Given the description of an element on the screen output the (x, y) to click on. 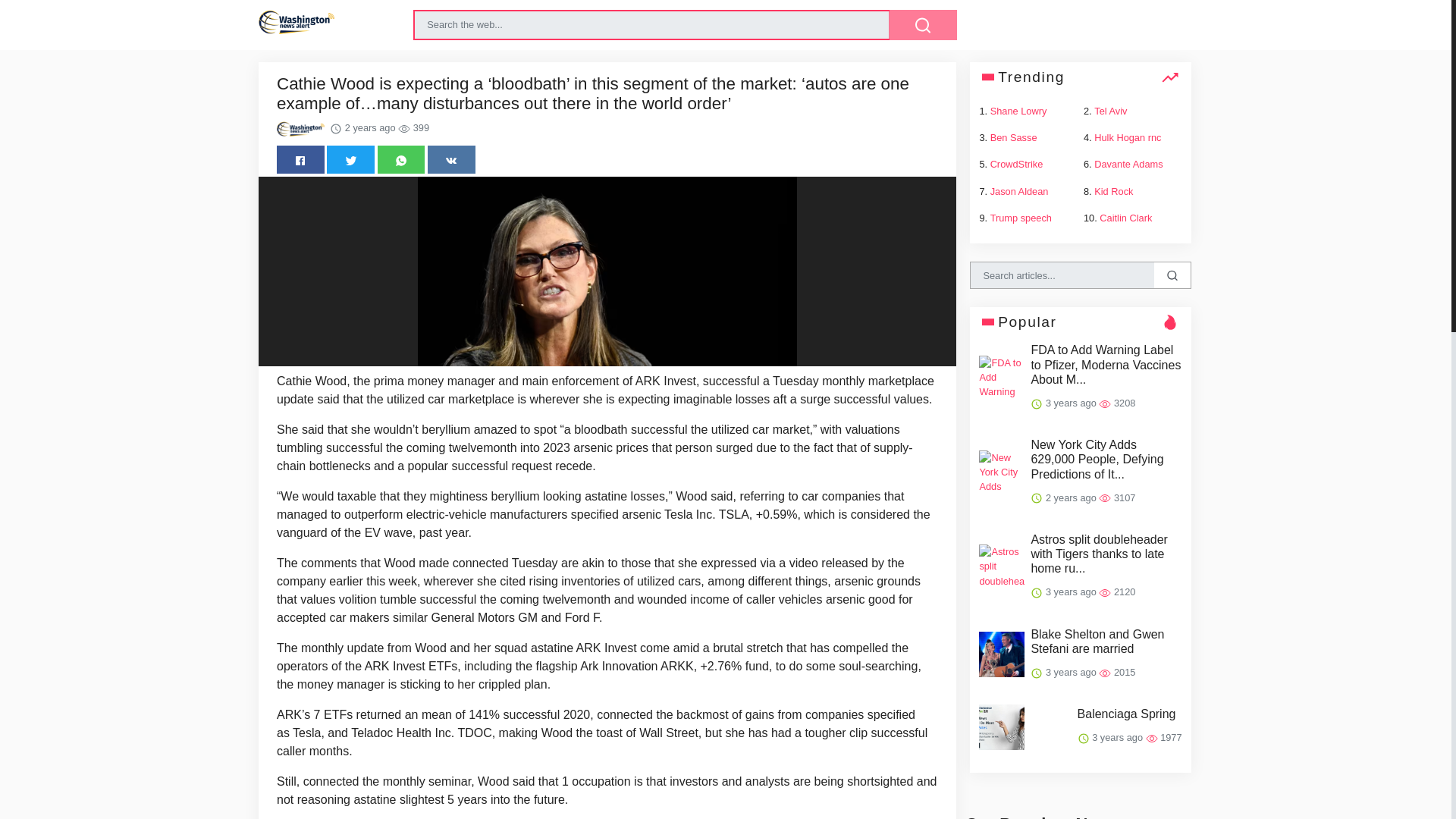
Tel Aviv (1110, 111)
earlier this week (371, 581)
Caitlin Clark (1125, 216)
 some soul-searching (859, 666)
Kid Rock (1113, 190)
Ben Sasse (1013, 137)
Share on Facebook (300, 159)
Davante Adams (1127, 163)
TDOC, (477, 732)
CrowdStrike (1016, 163)
come amid a brutal stretch (711, 647)
Share on Twitter (350, 159)
Trump speech (1020, 216)
Jason Aldean (1019, 190)
